Given the description of an element on the screen output the (x, y) to click on. 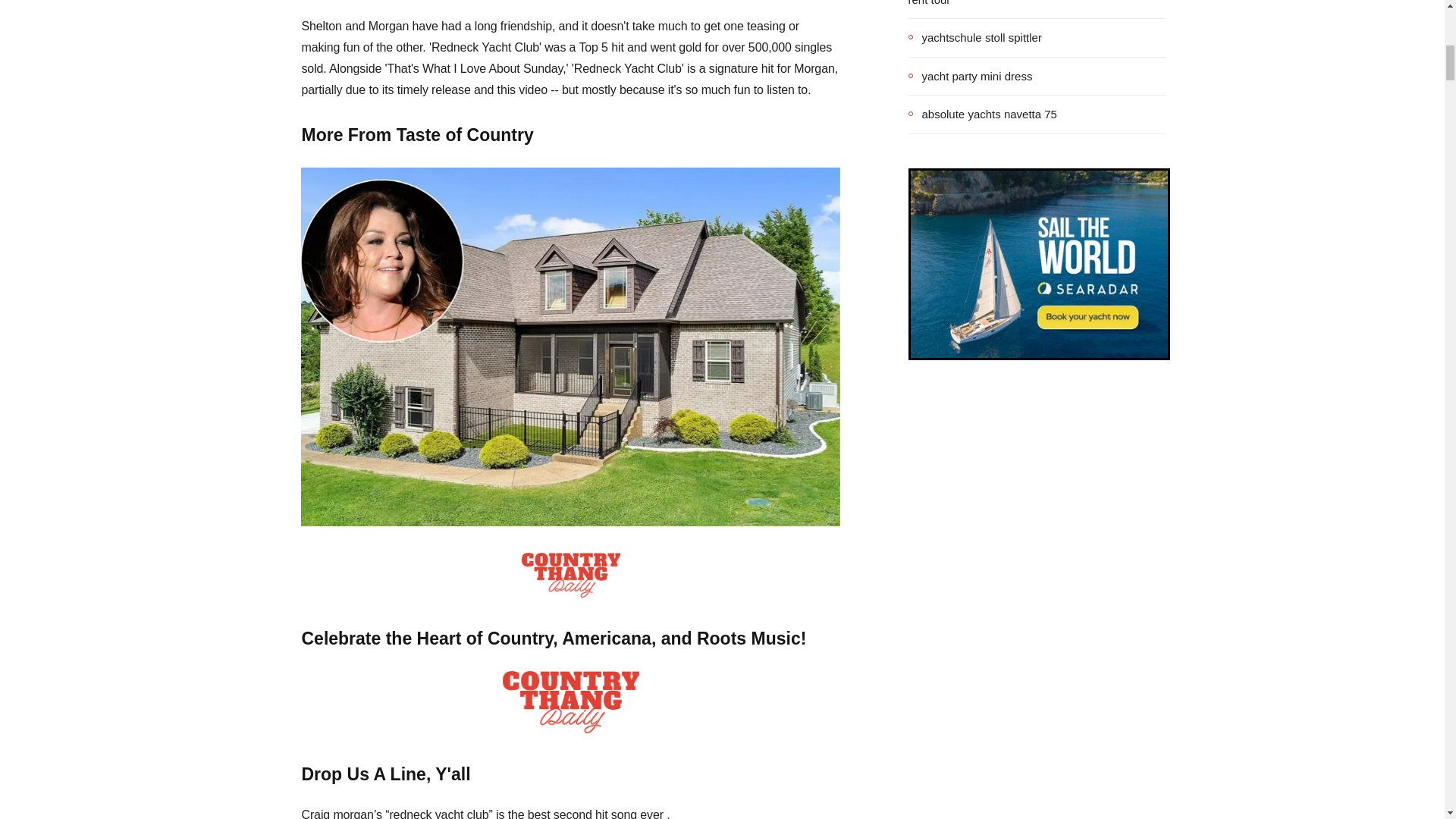
yacht party mini dress (970, 76)
private bosphorus cruise istanbul yacht boat rent tour (1037, 4)
yachtschule stoll spittler (975, 37)
craig morgan redneck yacht club videos (570, 574)
craig morgan redneck yacht club videos (570, 701)
absolute yachts navetta 75 (982, 114)
